Given the description of an element on the screen output the (x, y) to click on. 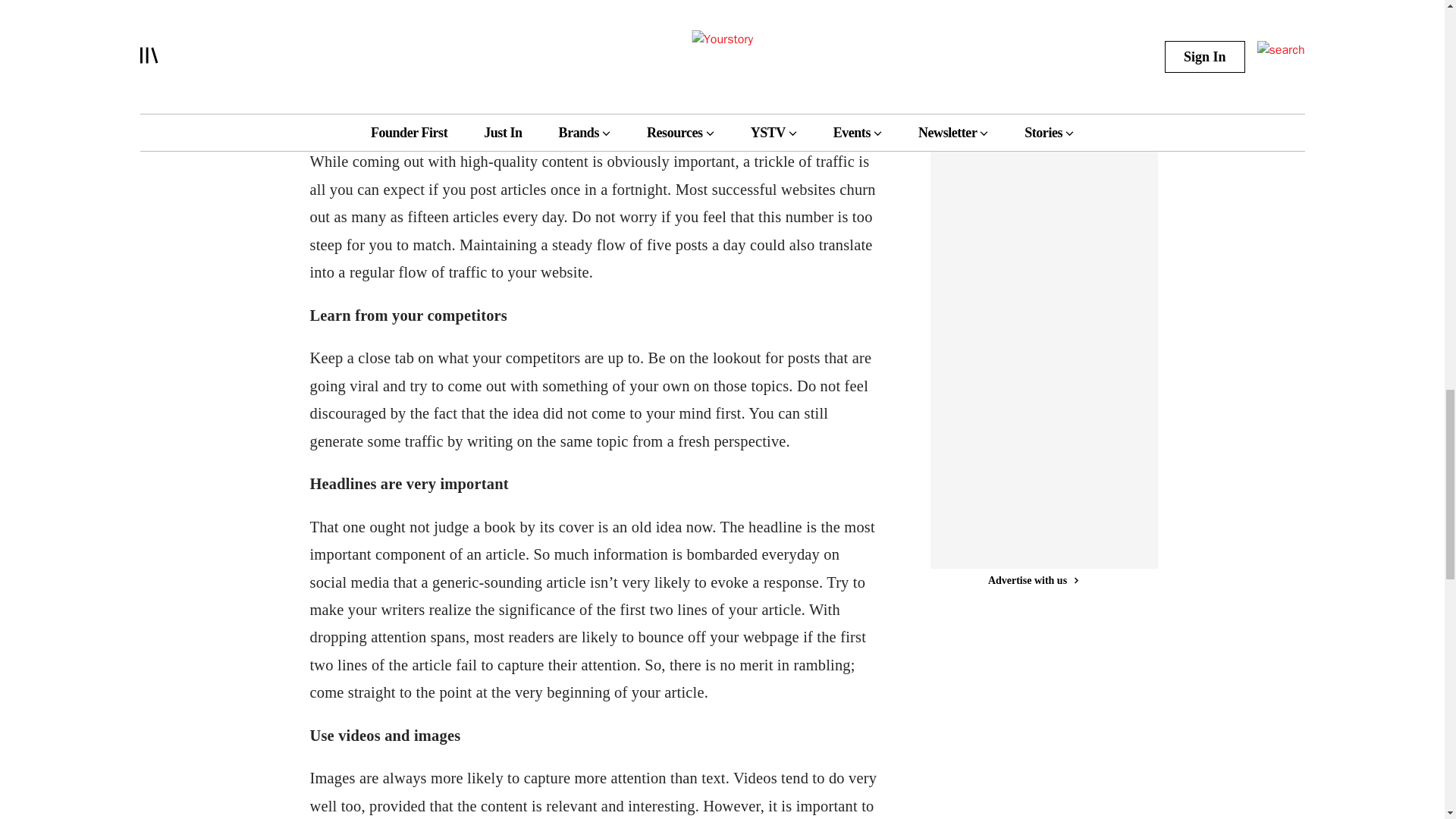
Advertise with us (1032, 93)
What Is A Company Under The Companies Act? (1013, 23)
Advertise with us (1032, 580)
